Given the description of an element on the screen output the (x, y) to click on. 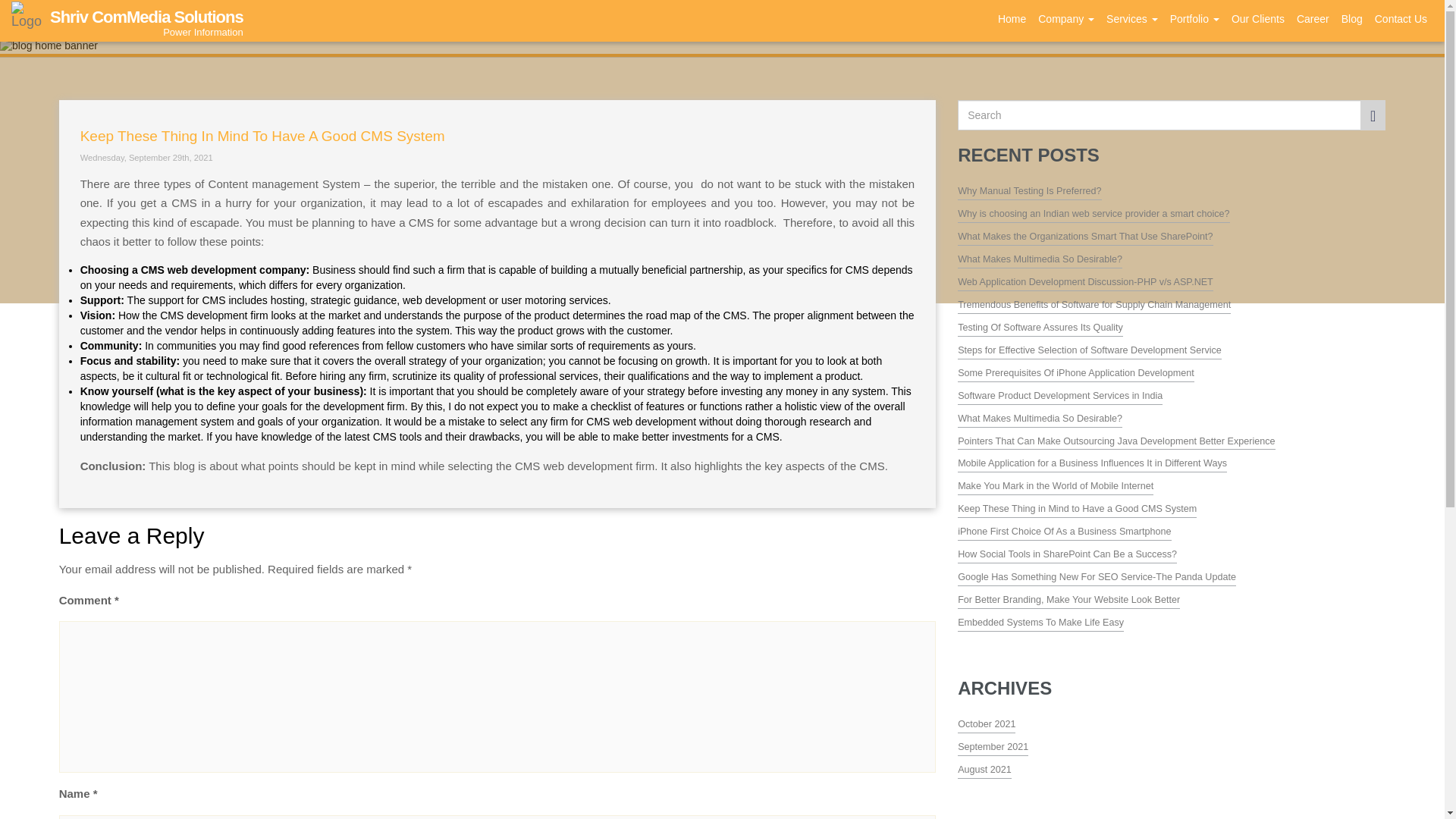
Portfolio (123, 18)
Company (1194, 19)
Services (1066, 19)
Home (1131, 19)
